Given the description of an element on the screen output the (x, y) to click on. 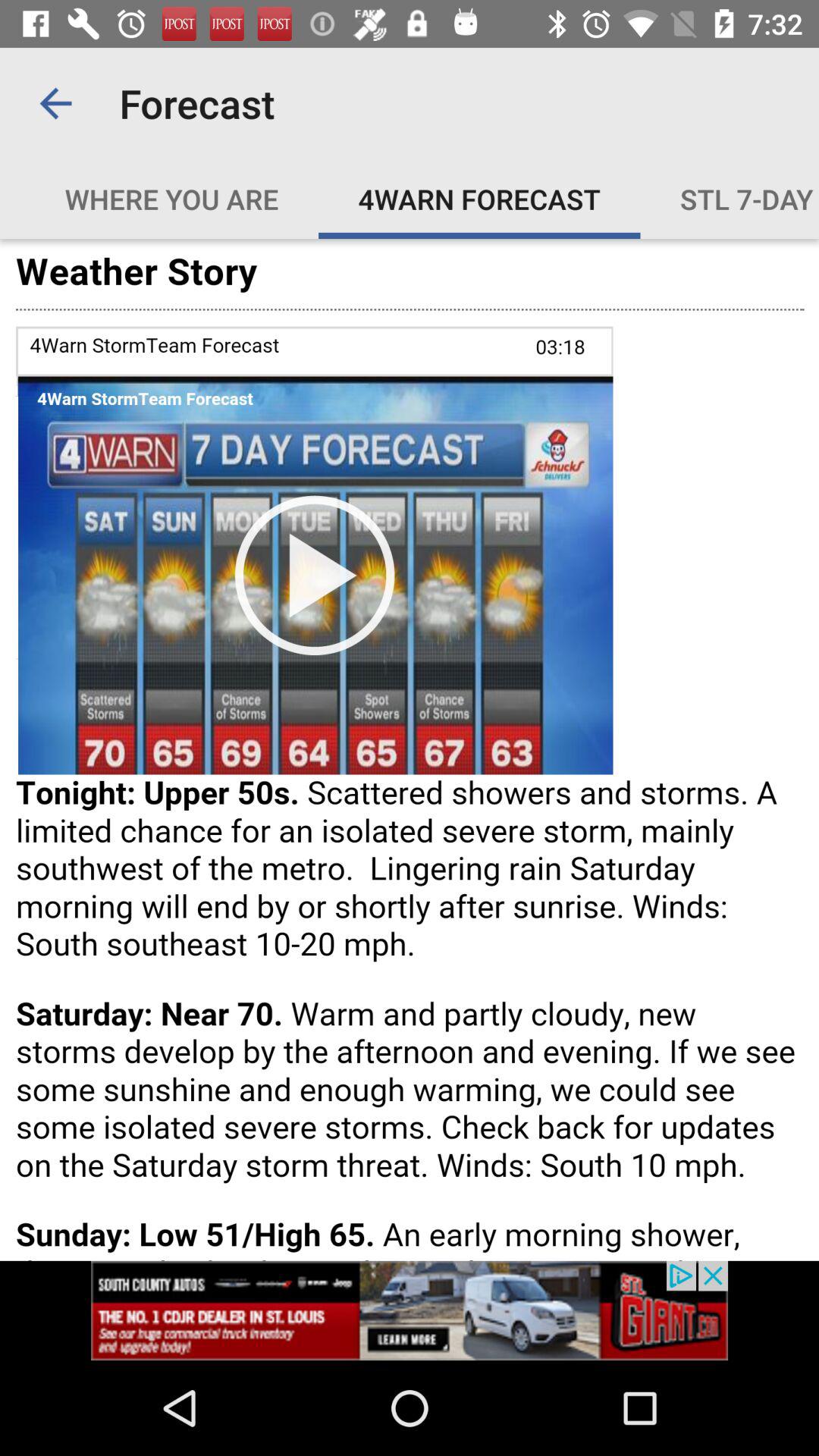
click on advertisements (409, 1310)
